Given the description of an element on the screen output the (x, y) to click on. 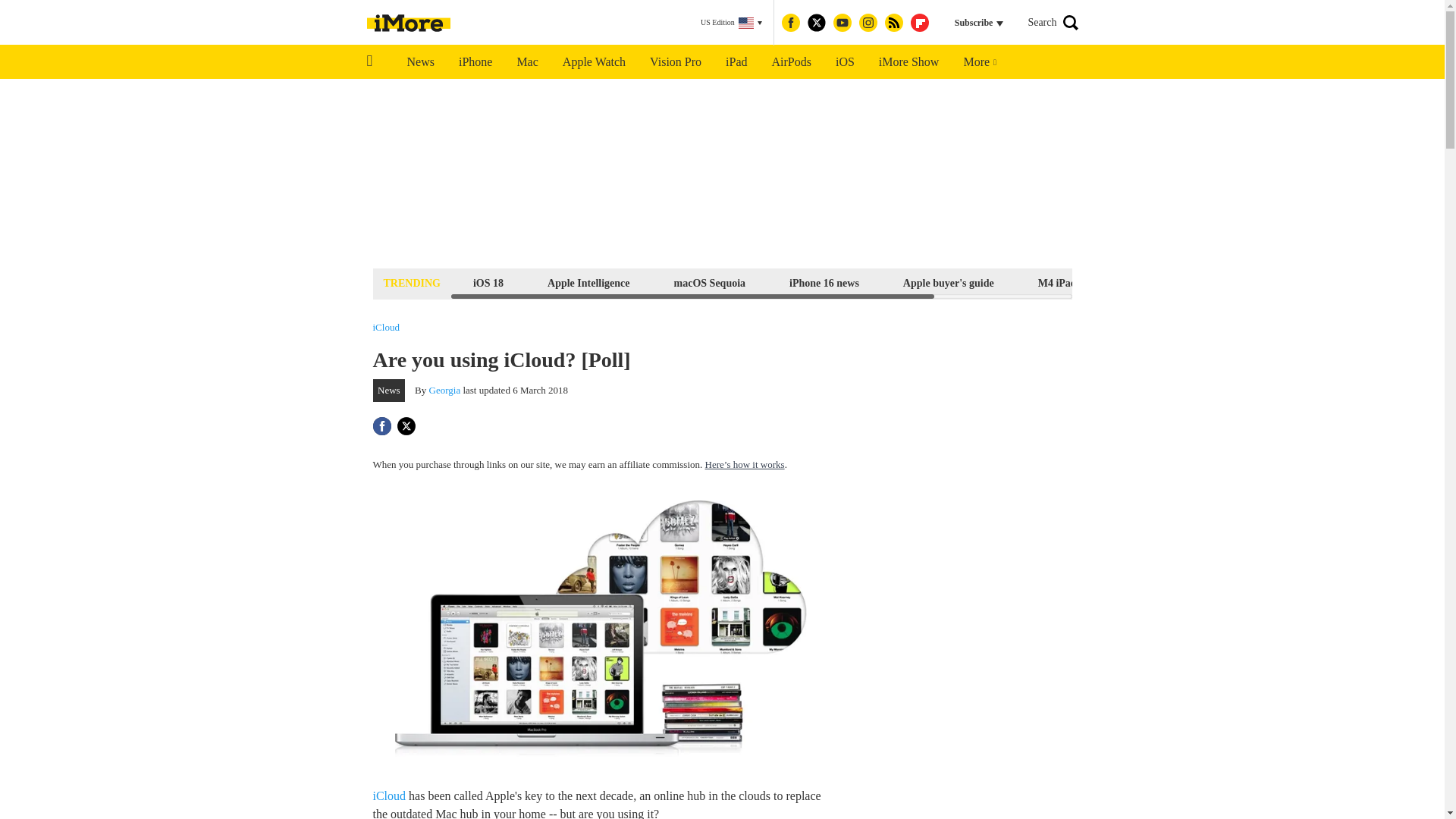
US Edition (731, 22)
AirPods (792, 61)
iPad (735, 61)
iPhone (474, 61)
iMore Show (909, 61)
Vision Pro (675, 61)
News (419, 61)
Mac (526, 61)
iOS (845, 61)
Apple Watch (593, 61)
